Given the description of an element on the screen output the (x, y) to click on. 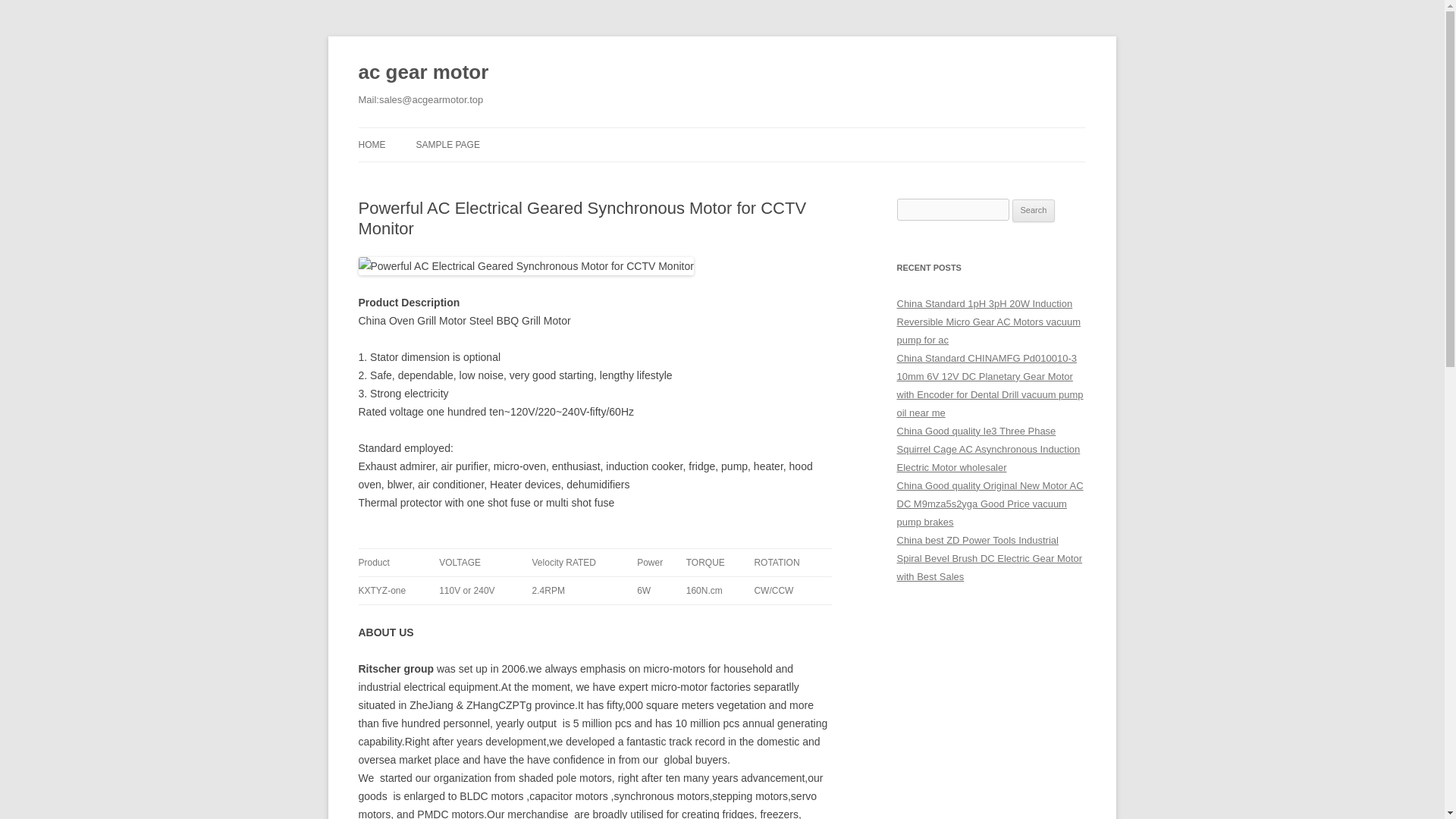
Search (1033, 210)
ac gear motor (422, 72)
ac gear motor (422, 72)
Search (1033, 210)
SAMPLE PAGE (446, 144)
